Given the description of an element on the screen output the (x, y) to click on. 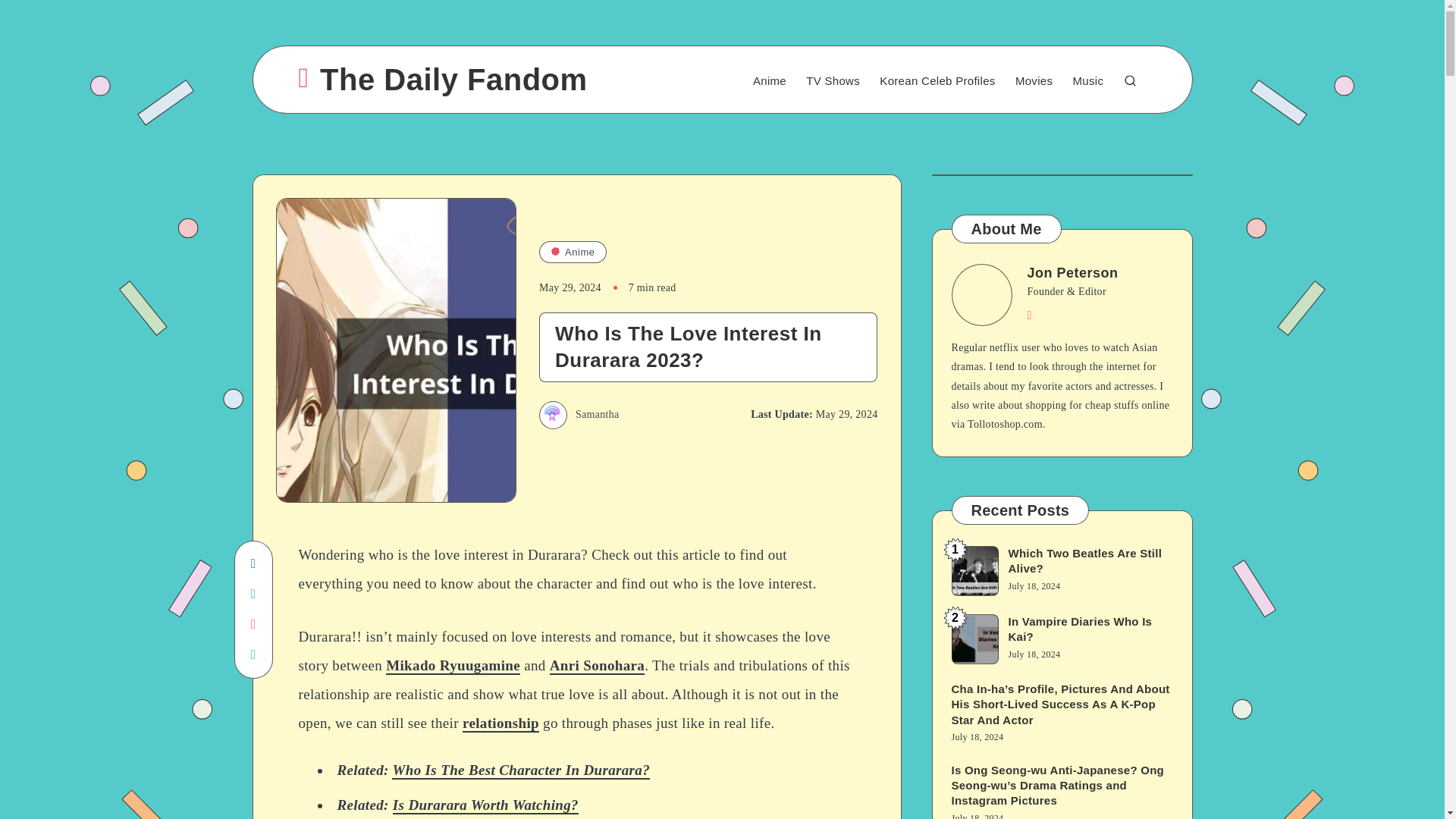
Korean Celeb Profiles (936, 81)
TV Shows (833, 81)
Author: Samantha (578, 414)
Samantha (578, 414)
Anime (572, 251)
Is Durarara Worth Watching? (485, 805)
Anime (769, 81)
The Daily Fandom (443, 79)
Music (1088, 81)
Who Is The Best Character In Durarara? (520, 770)
Anri Sonohara (597, 665)
relationship (500, 723)
Movies (1033, 81)
Mikado Ryuugamine (452, 665)
